Given the description of an element on the screen output the (x, y) to click on. 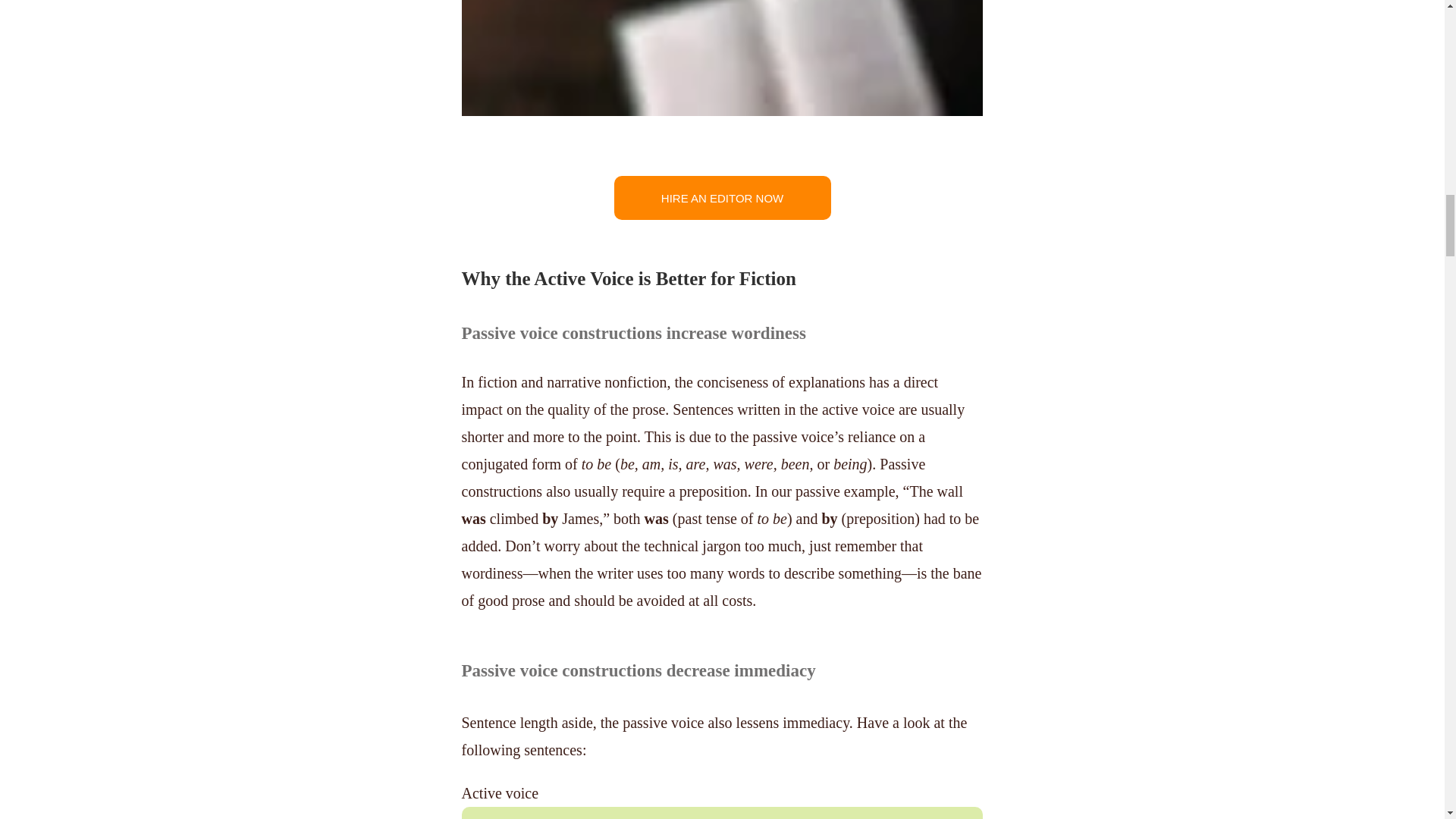
HIRE AN EDITOR NOW (722, 198)
